Given the description of an element on the screen output the (x, y) to click on. 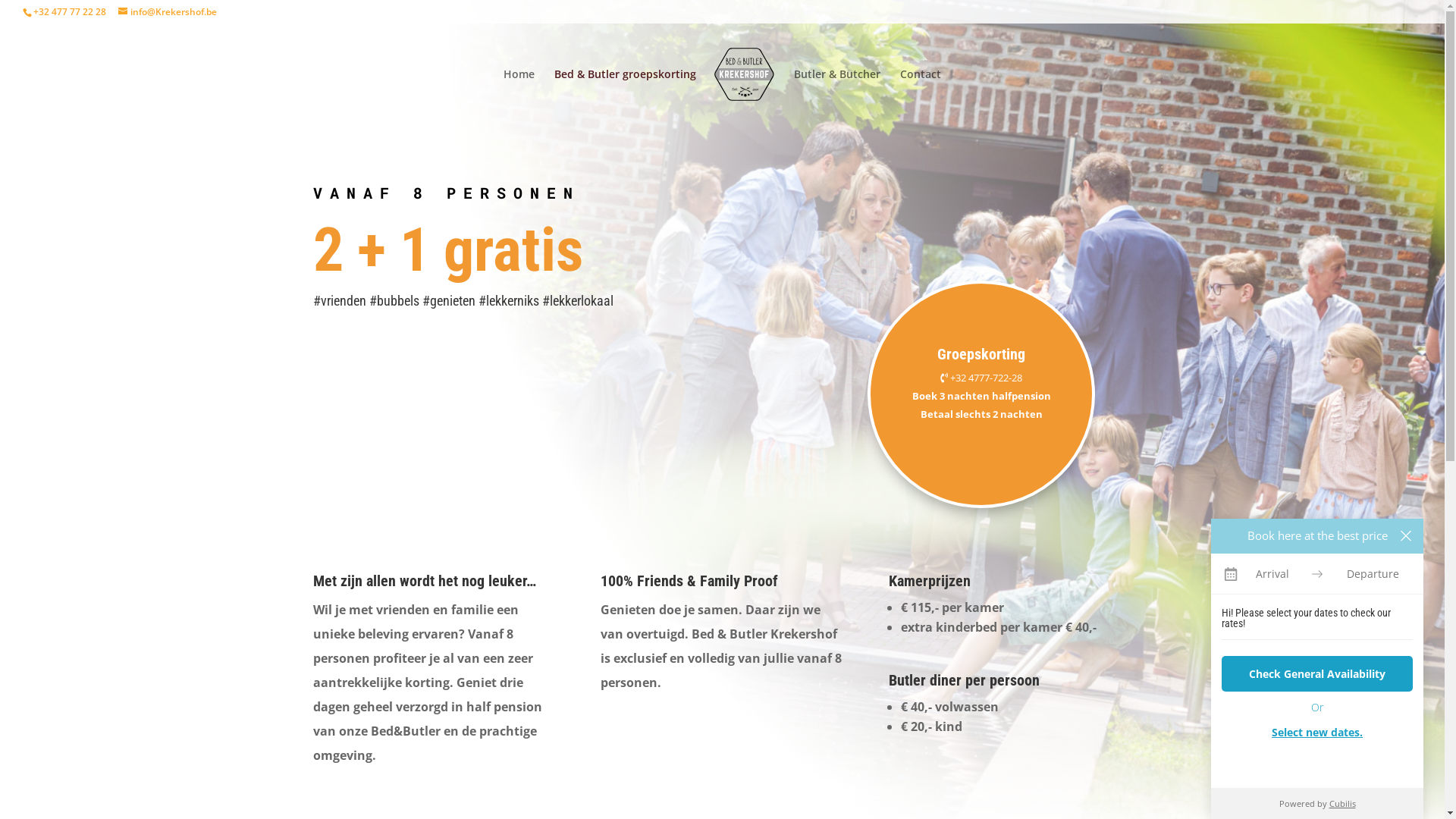
Select new dates. Element type: text (1316, 731)
info@Krekershof.be Element type: text (167, 11)
Butler & Butcher Element type: text (836, 94)
Contact Element type: text (920, 94)
Check General Availability Element type: text (1316, 673)
Bed & Butler groepskorting Element type: text (625, 94)
Cubilis Element type: text (1341, 803)
Home Element type: text (518, 94)
